Given the description of an element on the screen output the (x, y) to click on. 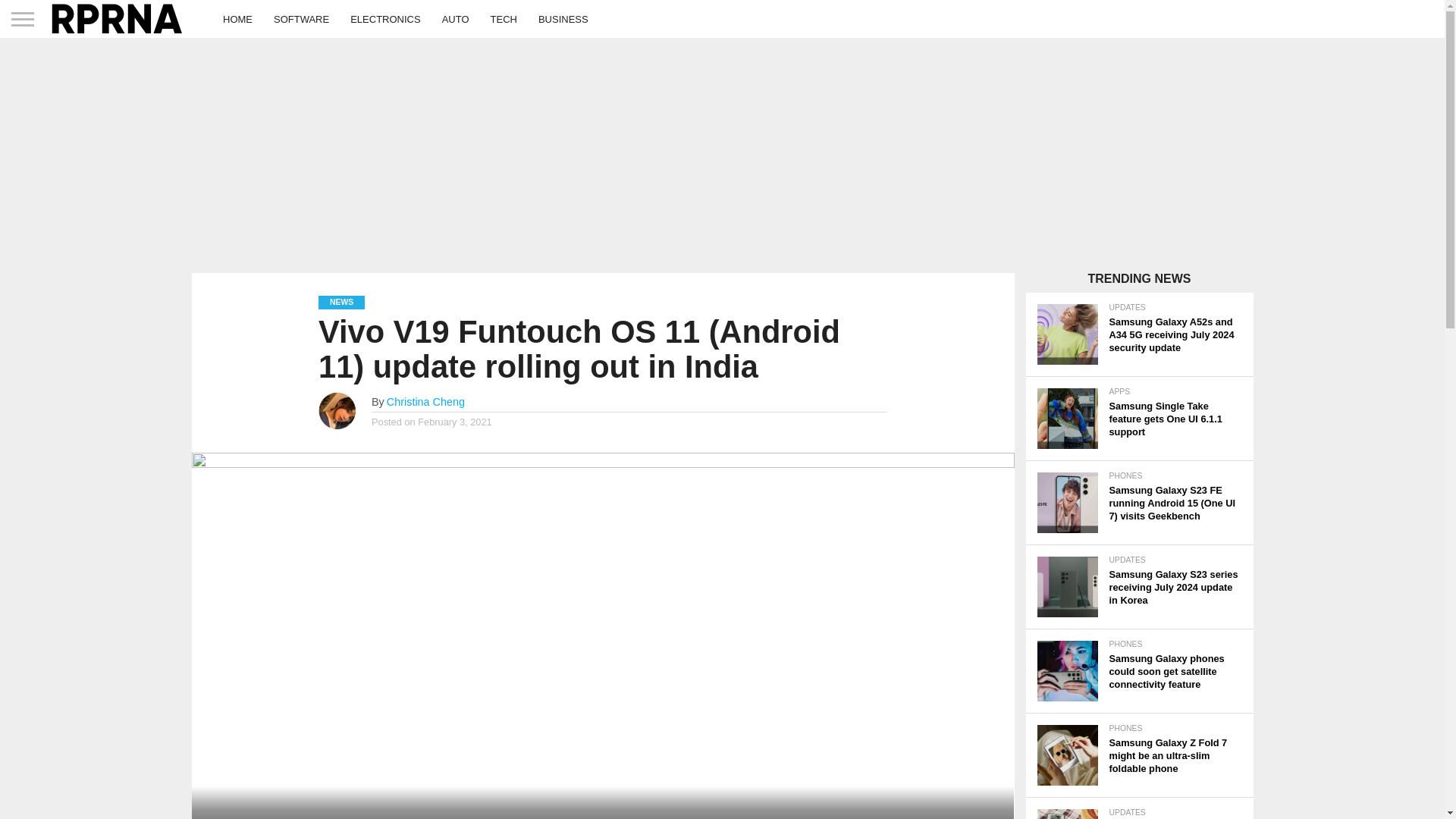
HOME (237, 18)
TECH (503, 18)
Posts by Christina Cheng (425, 401)
AUTO (455, 18)
Christina Cheng (425, 401)
SOFTWARE (301, 18)
BUSINESS (562, 18)
ELECTRONICS (384, 18)
